Given the description of an element on the screen output the (x, y) to click on. 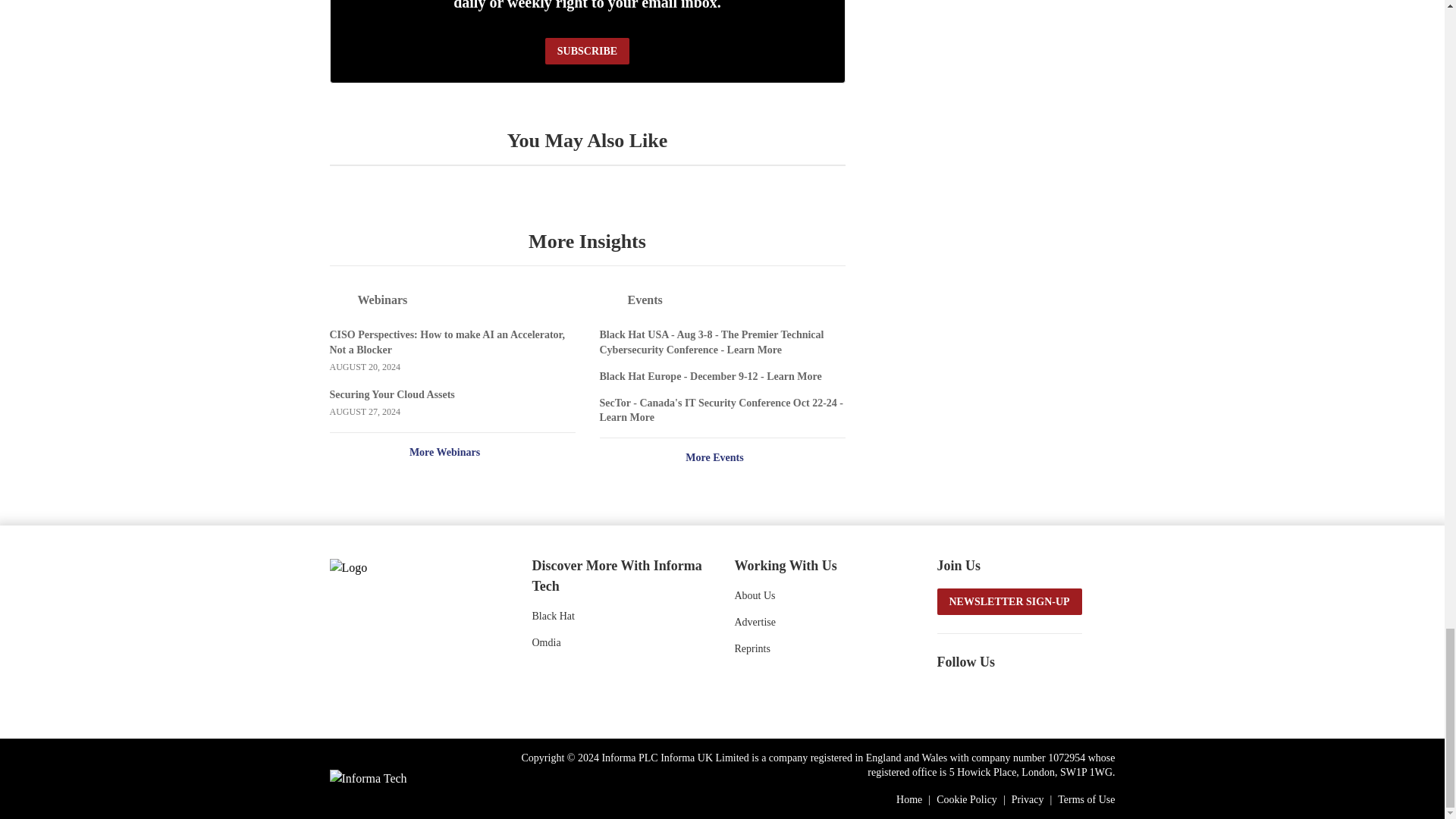
Logo (410, 566)
Informa Tech (367, 778)
